Given the description of an element on the screen output the (x, y) to click on. 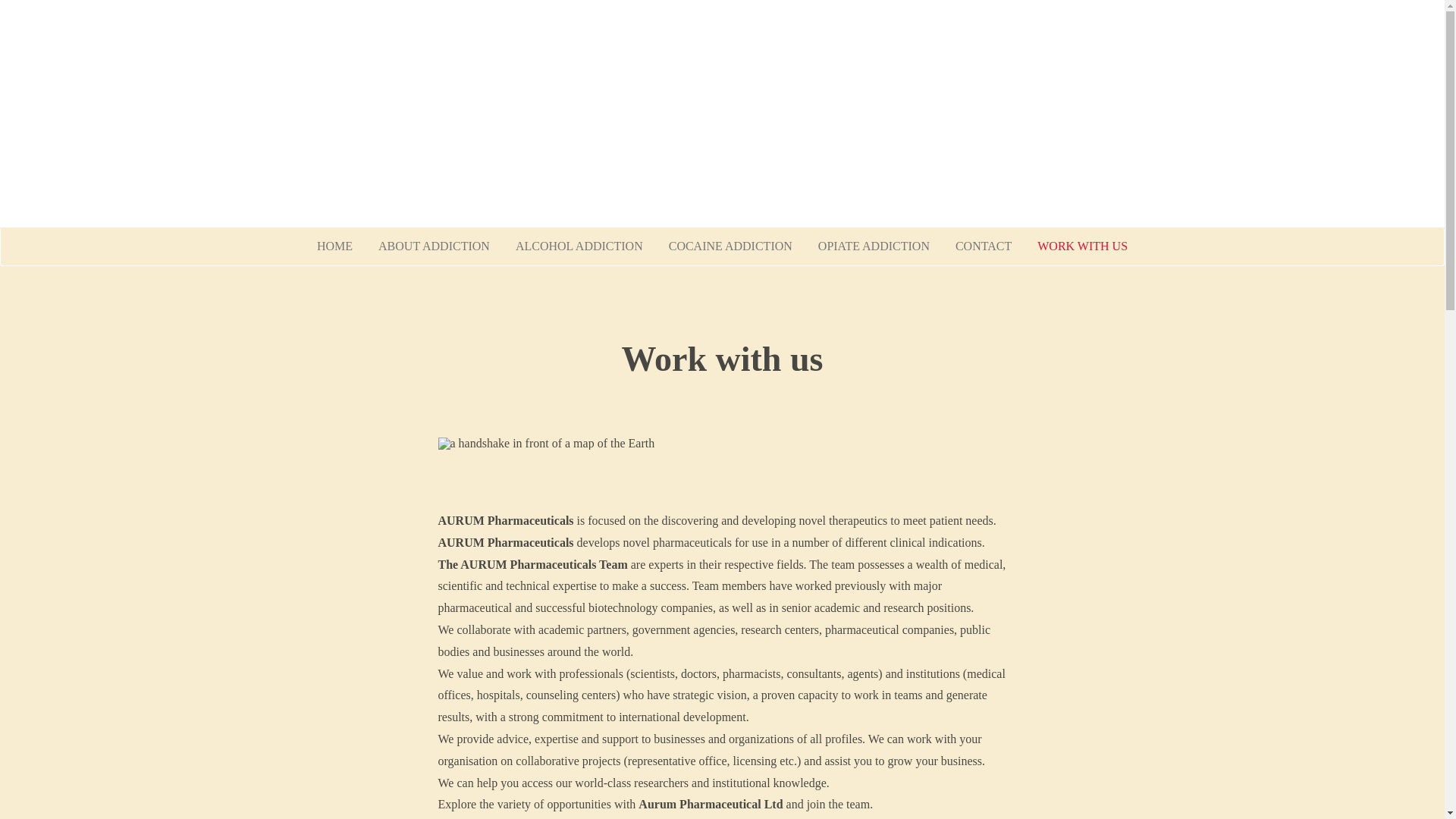
CONTACT Element type: text (983, 246)
HOME Element type: text (334, 246)
WORK WITH US Element type: text (1082, 246)
COCAINE ADDICTION Element type: text (730, 246)
ALCOHOL ADDICTION Element type: text (579, 246)
ABOUT ADDICTION Element type: text (434, 246)
OPIATE ADDICTION Element type: text (873, 246)
